Given the description of an element on the screen output the (x, y) to click on. 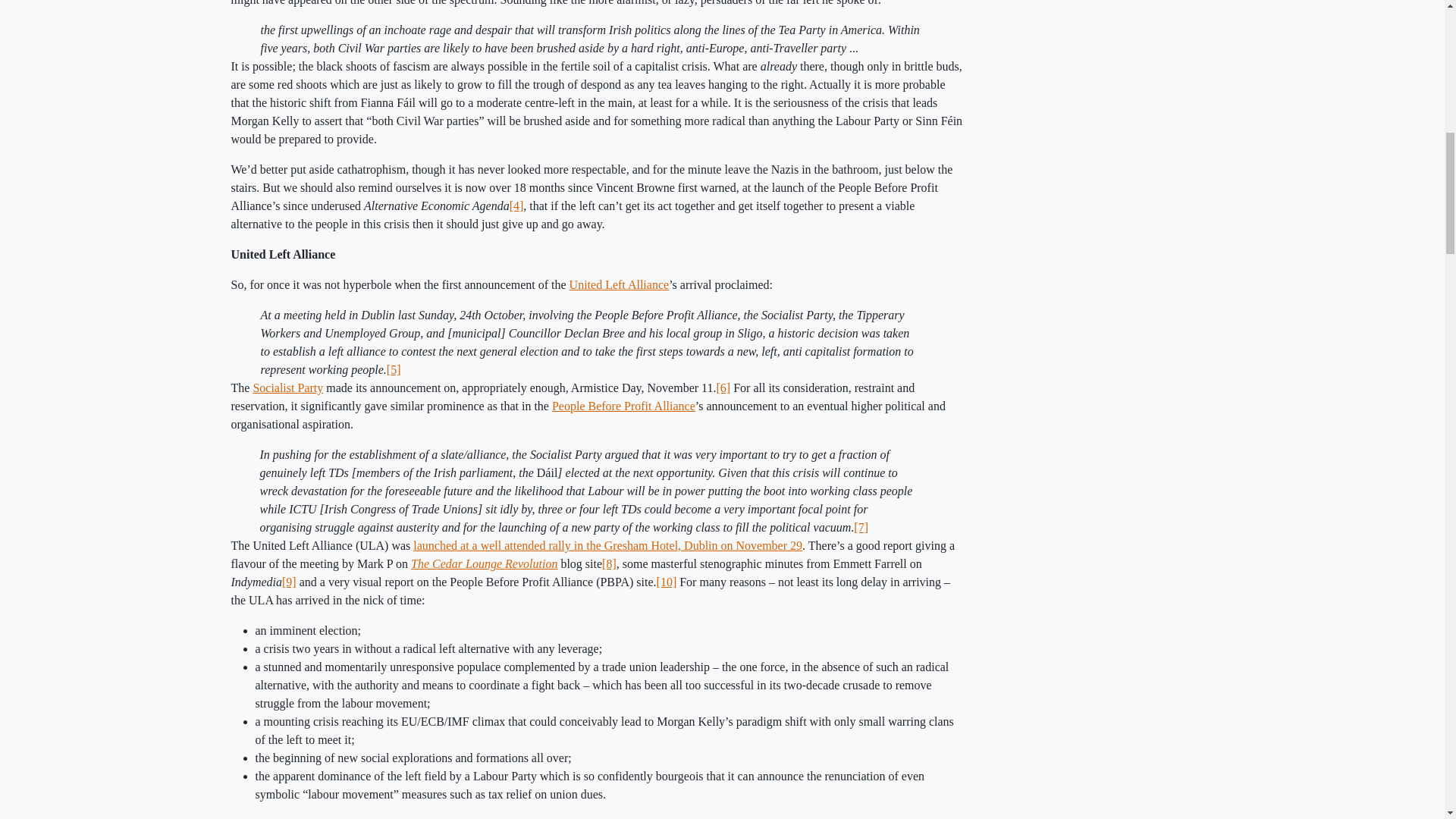
People Before Profit Alliance (623, 405)
The Cedar Lounge Revolution (483, 563)
United Left Alliance (619, 284)
Socialist Party (287, 387)
